Given the description of an element on the screen output the (x, y) to click on. 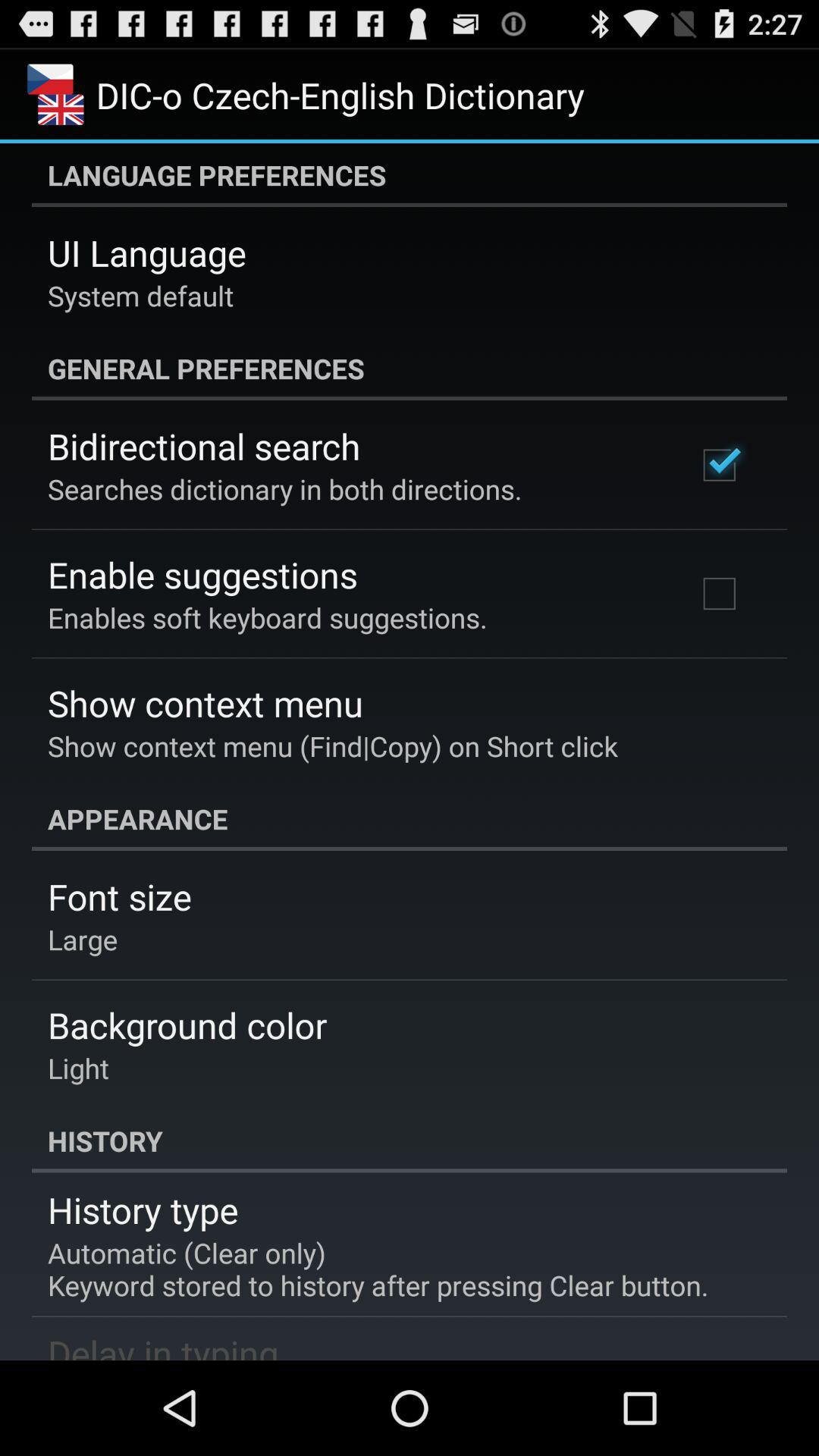
click bidirectional search app (203, 446)
